Given the description of an element on the screen output the (x, y) to click on. 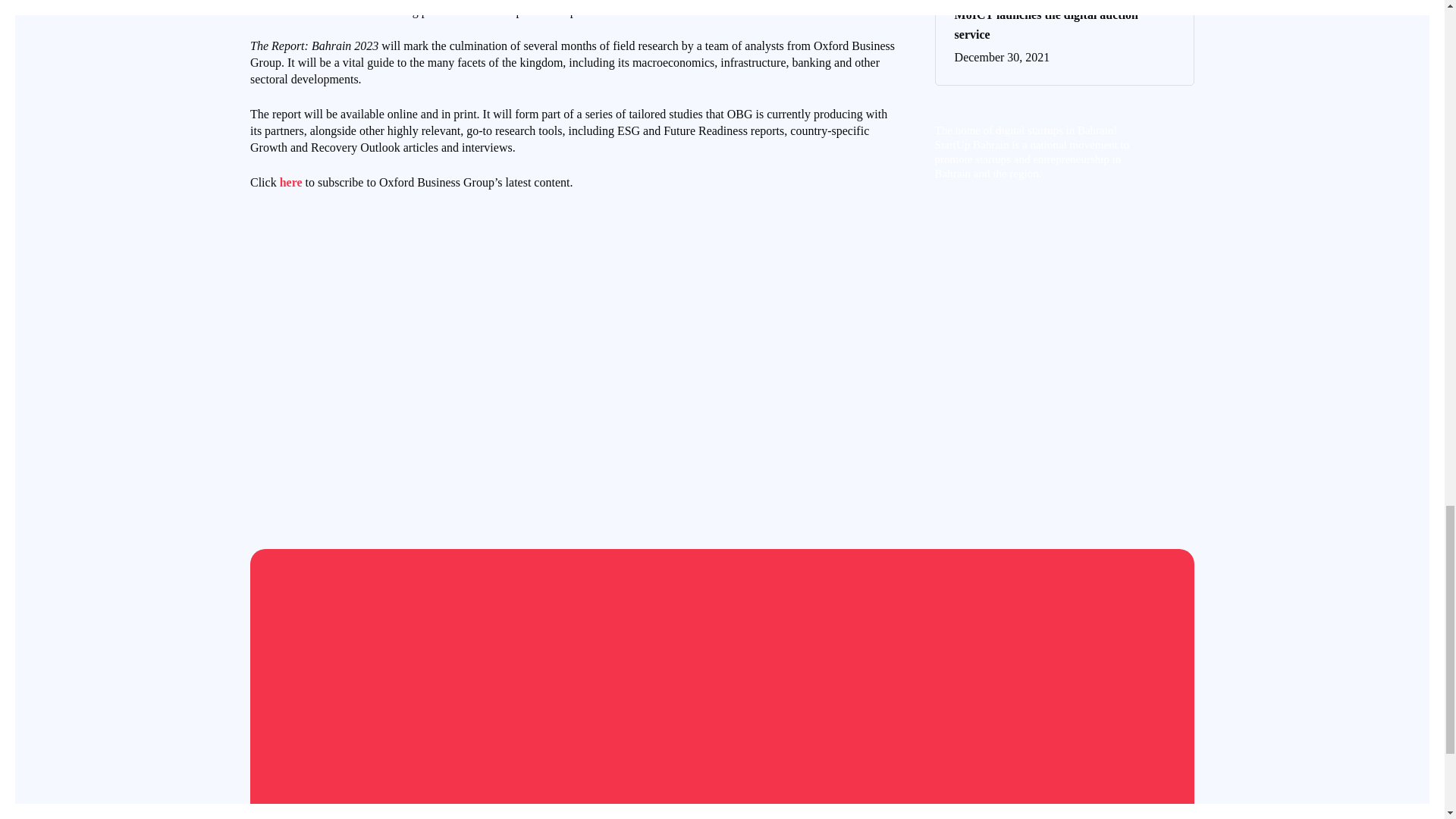
here (290, 182)
